Given the description of an element on the screen output the (x, y) to click on. 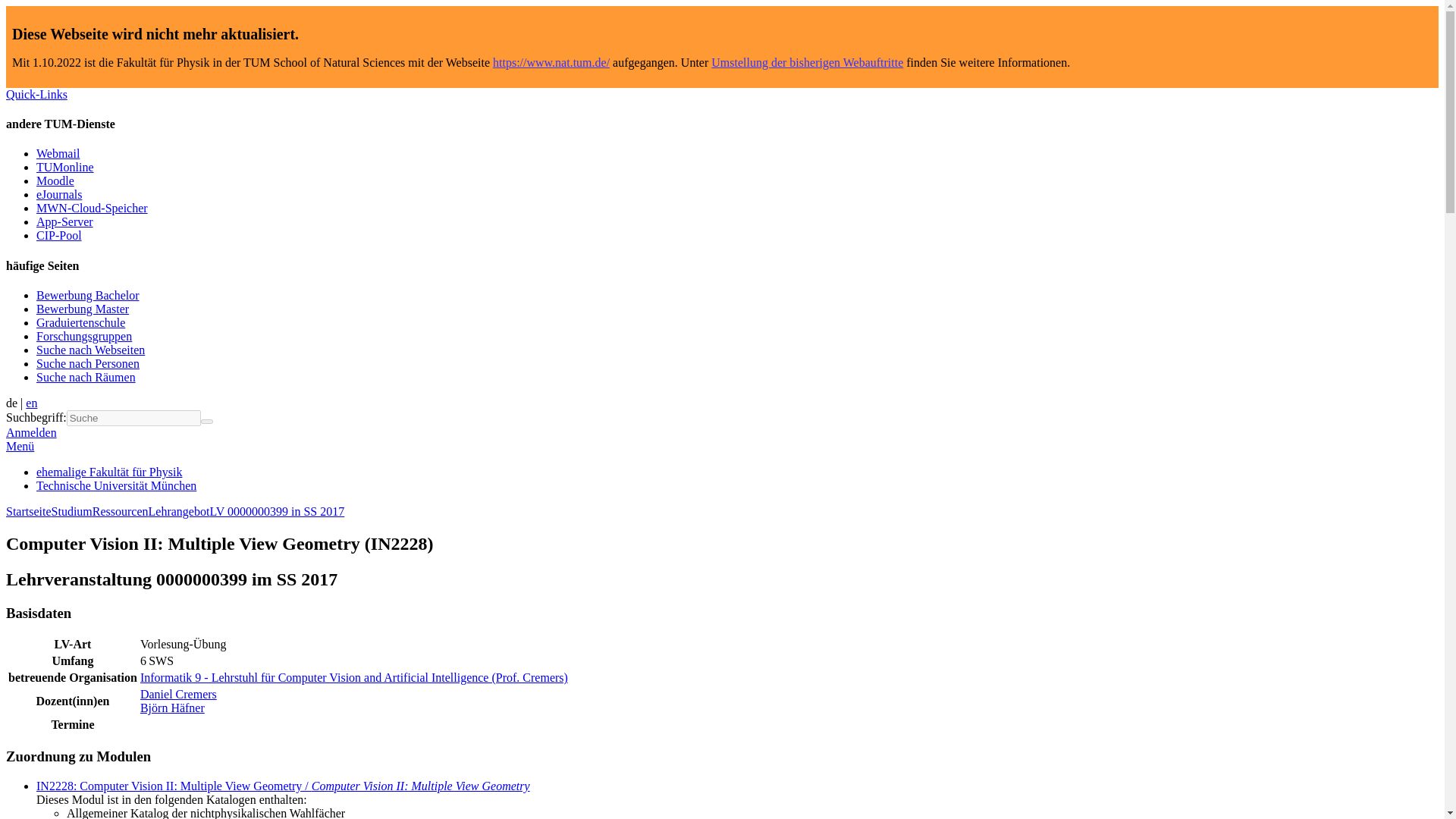
Webmail (58, 153)
eJournals (58, 194)
Anmelden (30, 431)
Quick-Links (35, 93)
LV 0000000399 in SS 2017 (276, 511)
App-Server (64, 221)
Bewerbung Master (82, 308)
Startseite (27, 511)
Suche nach Webseiten (90, 349)
MWN-Cloud-Speicher (92, 207)
